Given the description of an element on the screen output the (x, y) to click on. 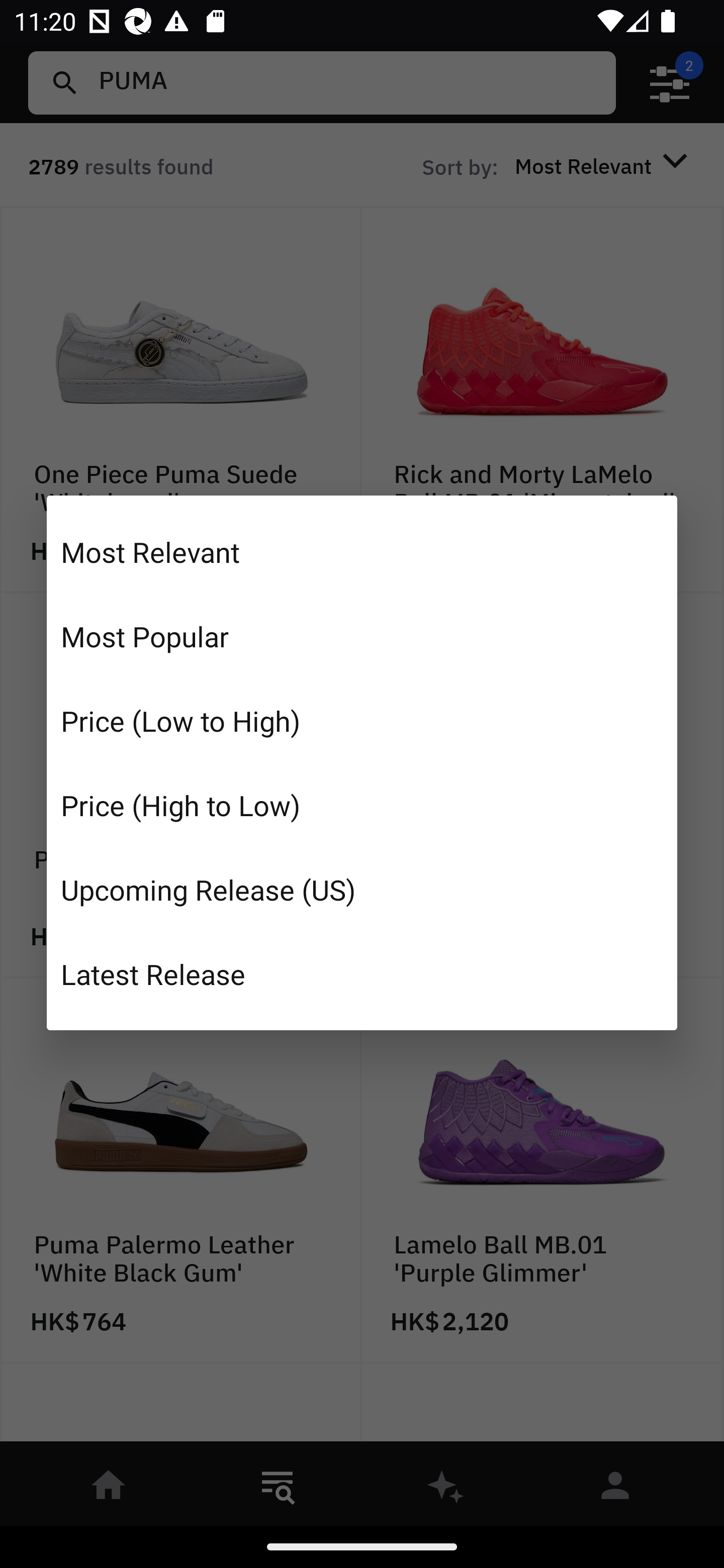
Most Relevant (361, 551)
Most Popular (361, 636)
Price (Low to High) (361, 720)
Price (High to Low) (361, 804)
Upcoming Release (US) (361, 888)
Latest Release (361, 973)
